Given the description of an element on the screen output the (x, y) to click on. 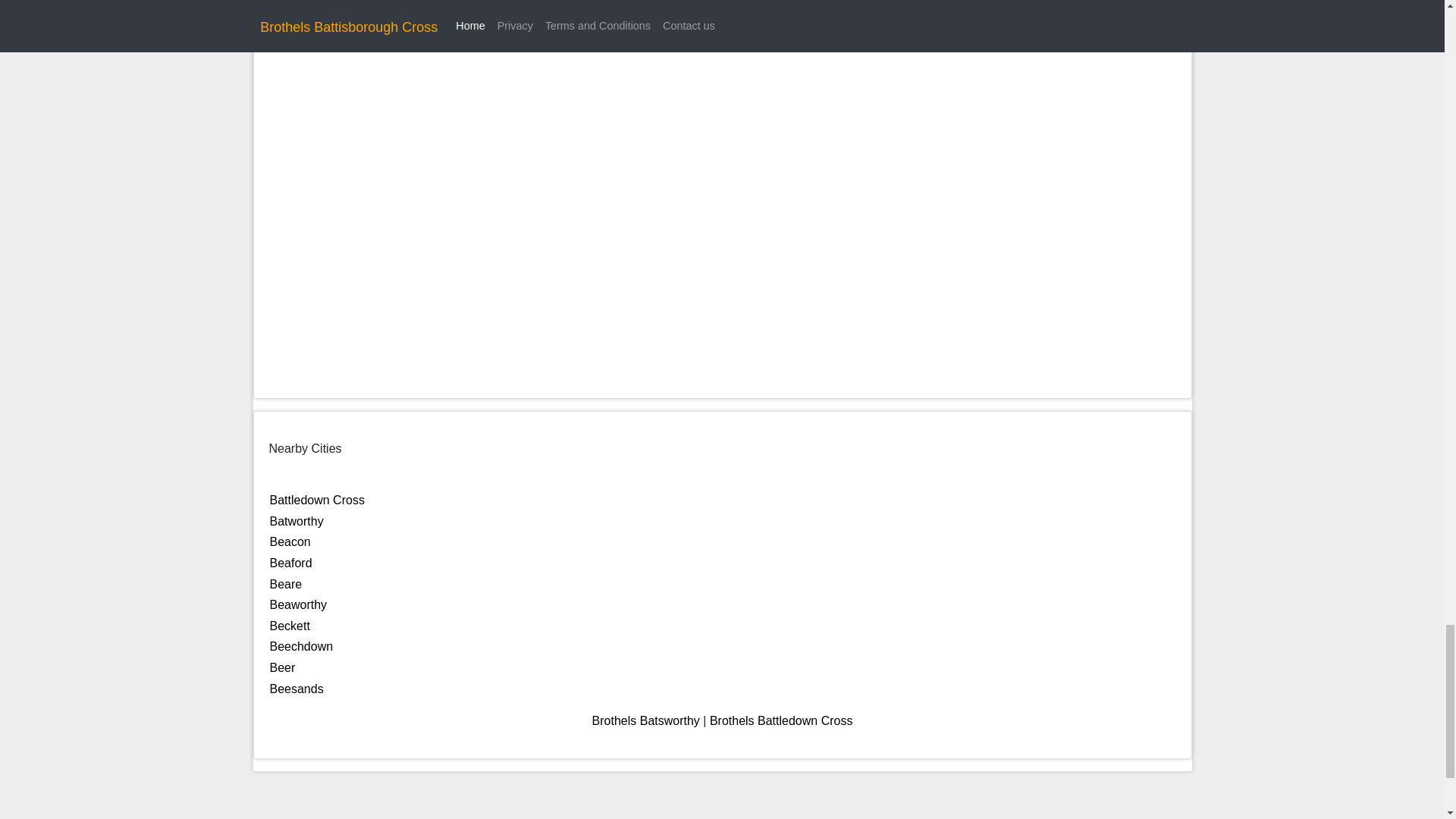
Beesands (296, 688)
Brothels Batsworthy (646, 720)
Battledown Cross (317, 499)
Beaford (291, 562)
Beacon (290, 541)
Batworthy (296, 521)
Beaworthy (298, 604)
Brothels Battledown Cross (781, 720)
Beckett (289, 625)
Beechdown (301, 645)
Beare (285, 584)
Beer (282, 667)
